Given the description of an element on the screen output the (x, y) to click on. 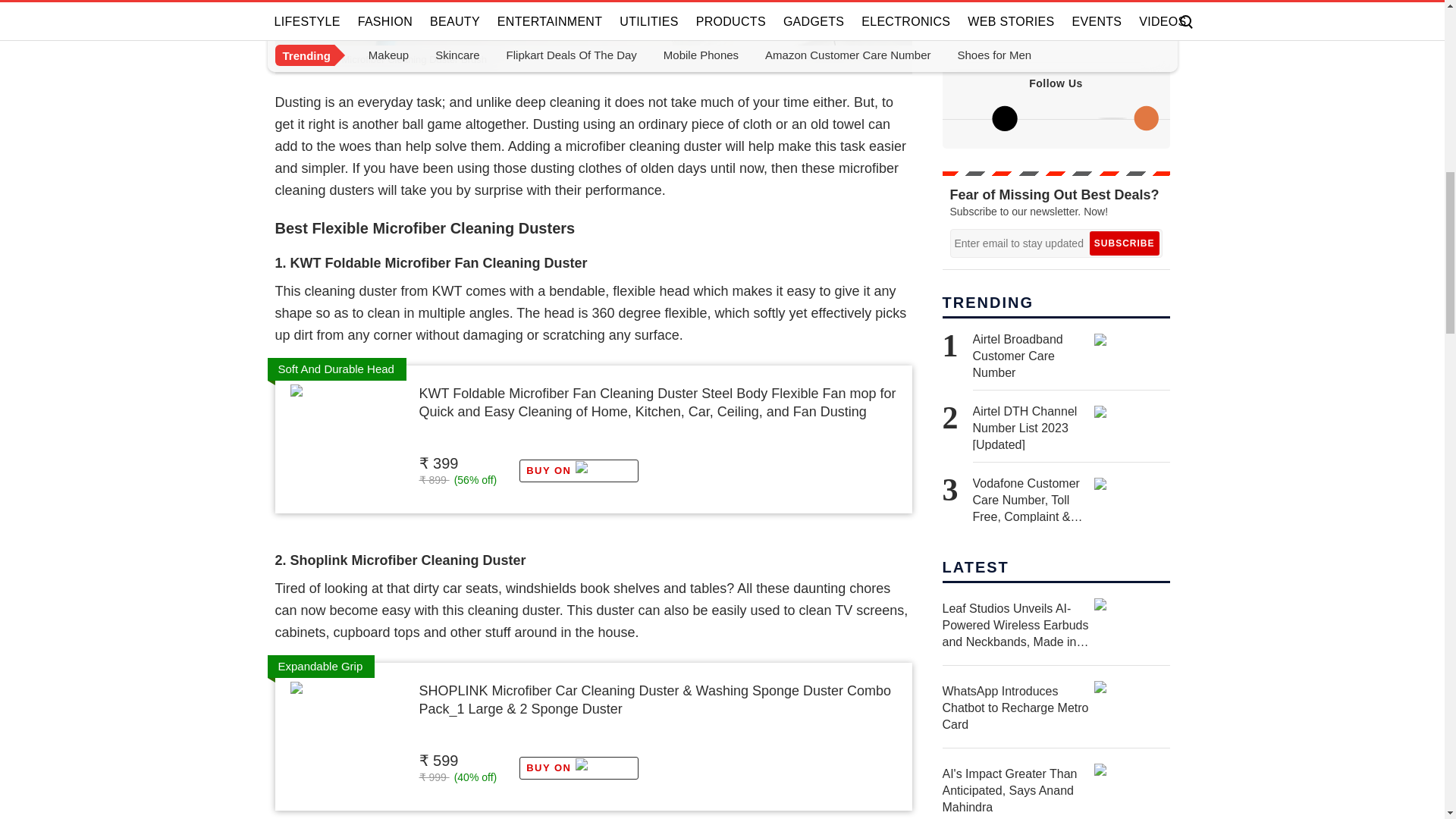
Best Flexible Microfiber Cleaning Duster Brush (593, 22)
3.7 (447, 432)
